Given the description of an element on the screen output the (x, y) to click on. 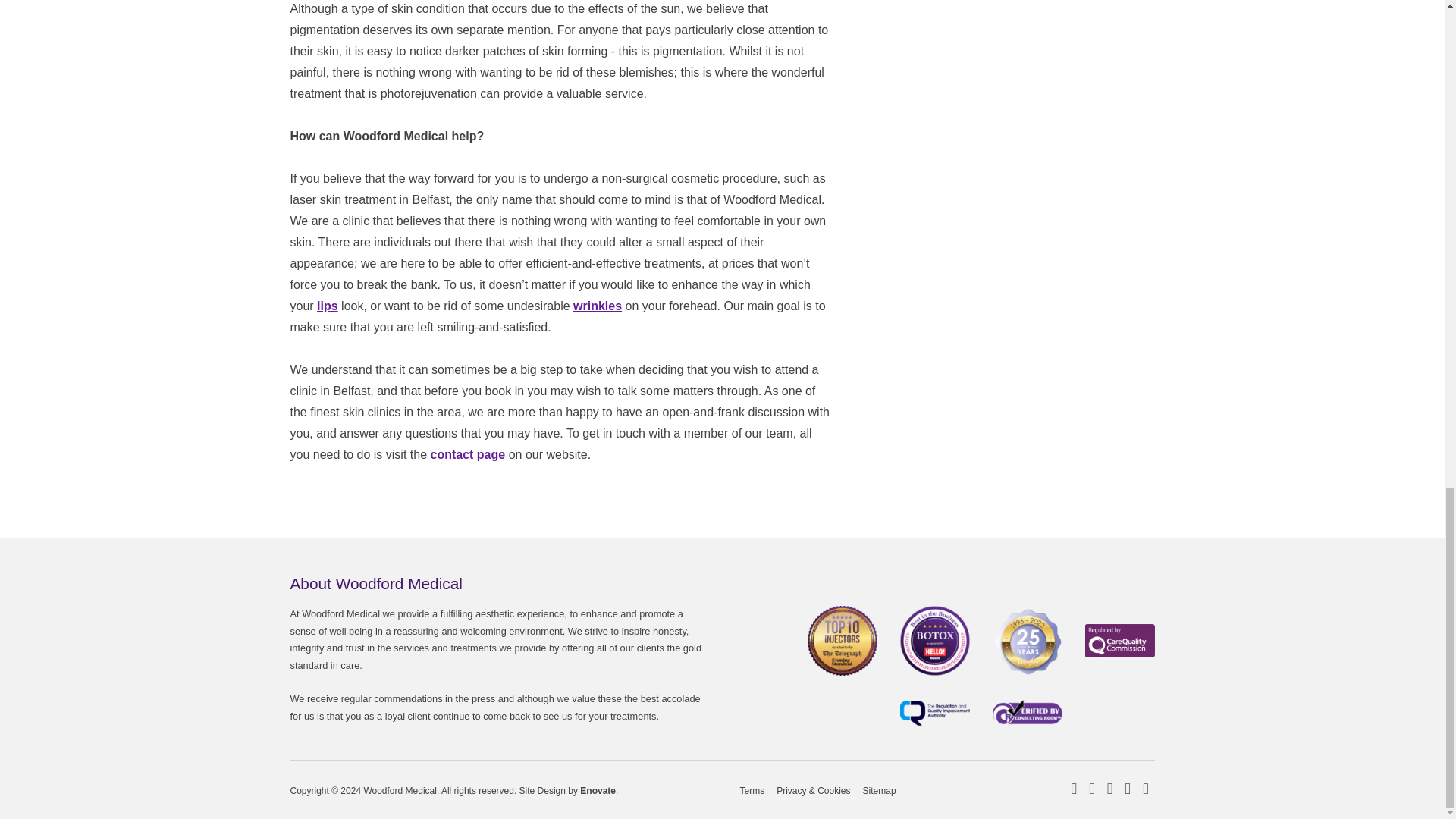
Sitemap (879, 789)
lips (327, 305)
Terms (752, 789)
contact page (467, 454)
Enovate (597, 790)
wrinkles (597, 305)
